Given the description of an element on the screen output the (x, y) to click on. 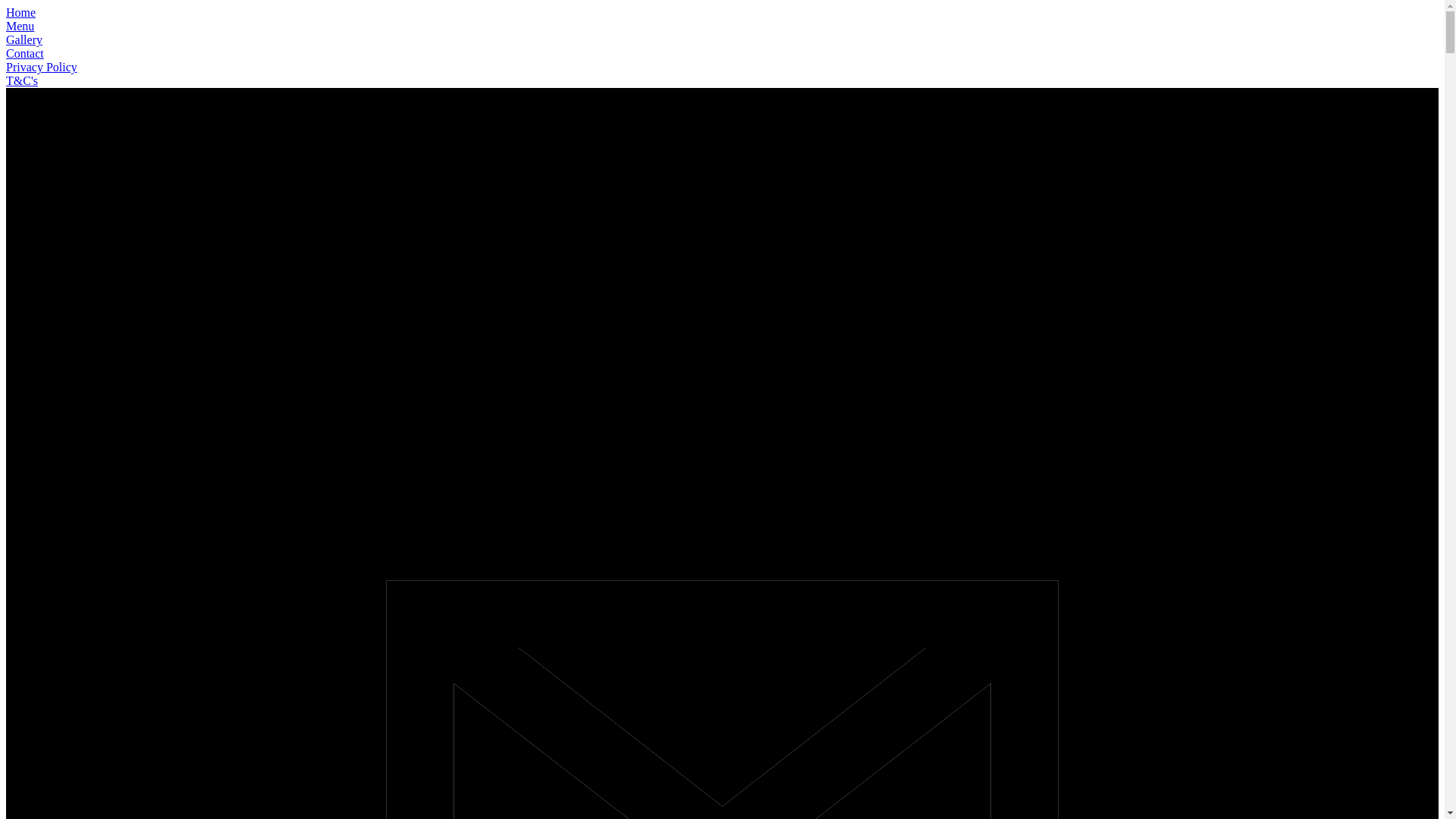
Contact Element type: text (24, 53)
Menu Element type: text (20, 25)
Gallery Element type: text (24, 39)
Privacy Policy Element type: text (41, 66)
T&C's Element type: text (21, 80)
Home Element type: text (20, 12)
